Given the description of an element on the screen output the (x, y) to click on. 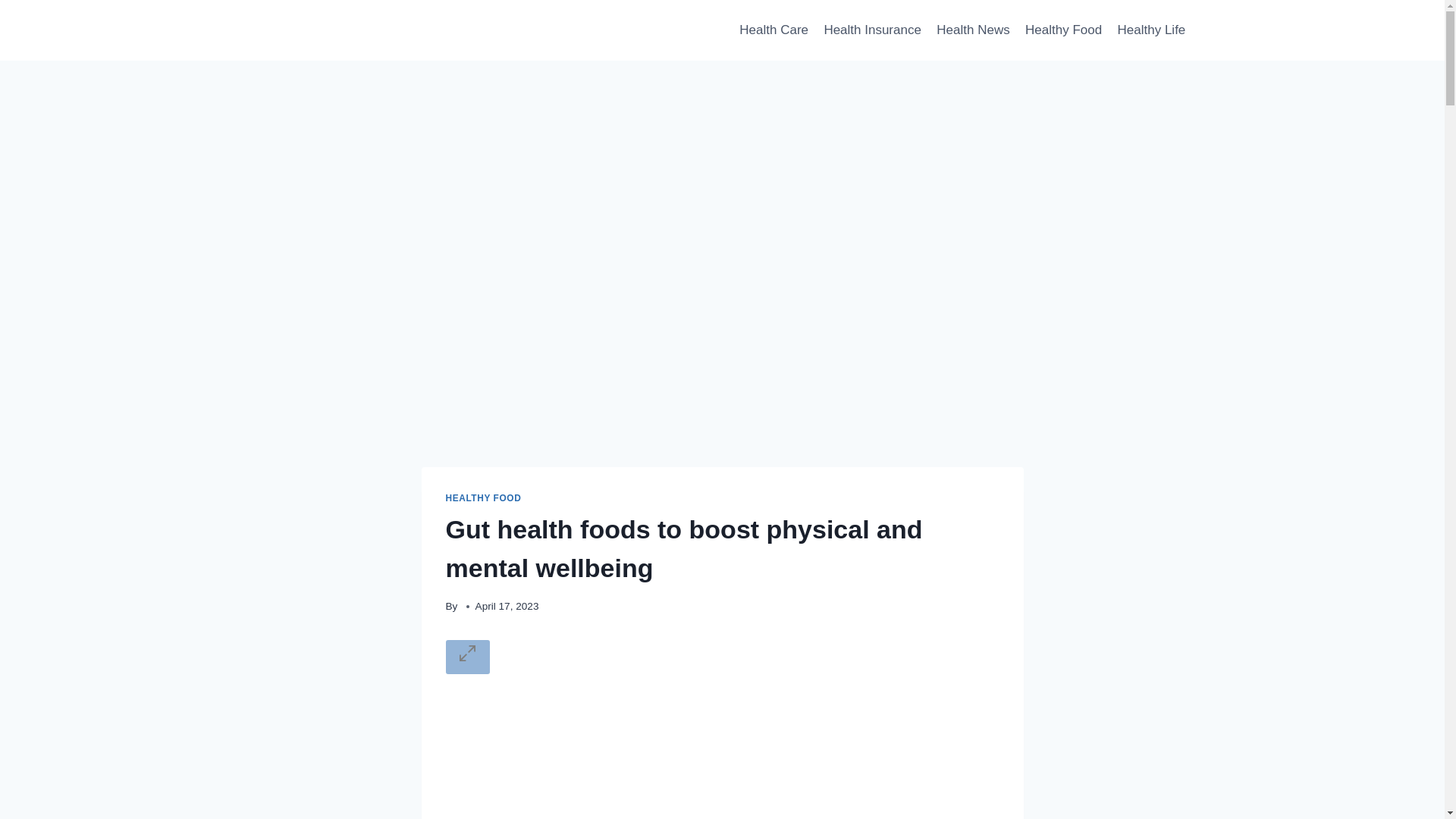
Health Insurance (871, 30)
Health News (972, 30)
HEALTHY FOOD (483, 498)
Health Care (773, 30)
Healthy Food (1063, 30)
Healthy Life (1150, 30)
